Given the description of an element on the screen output the (x, y) to click on. 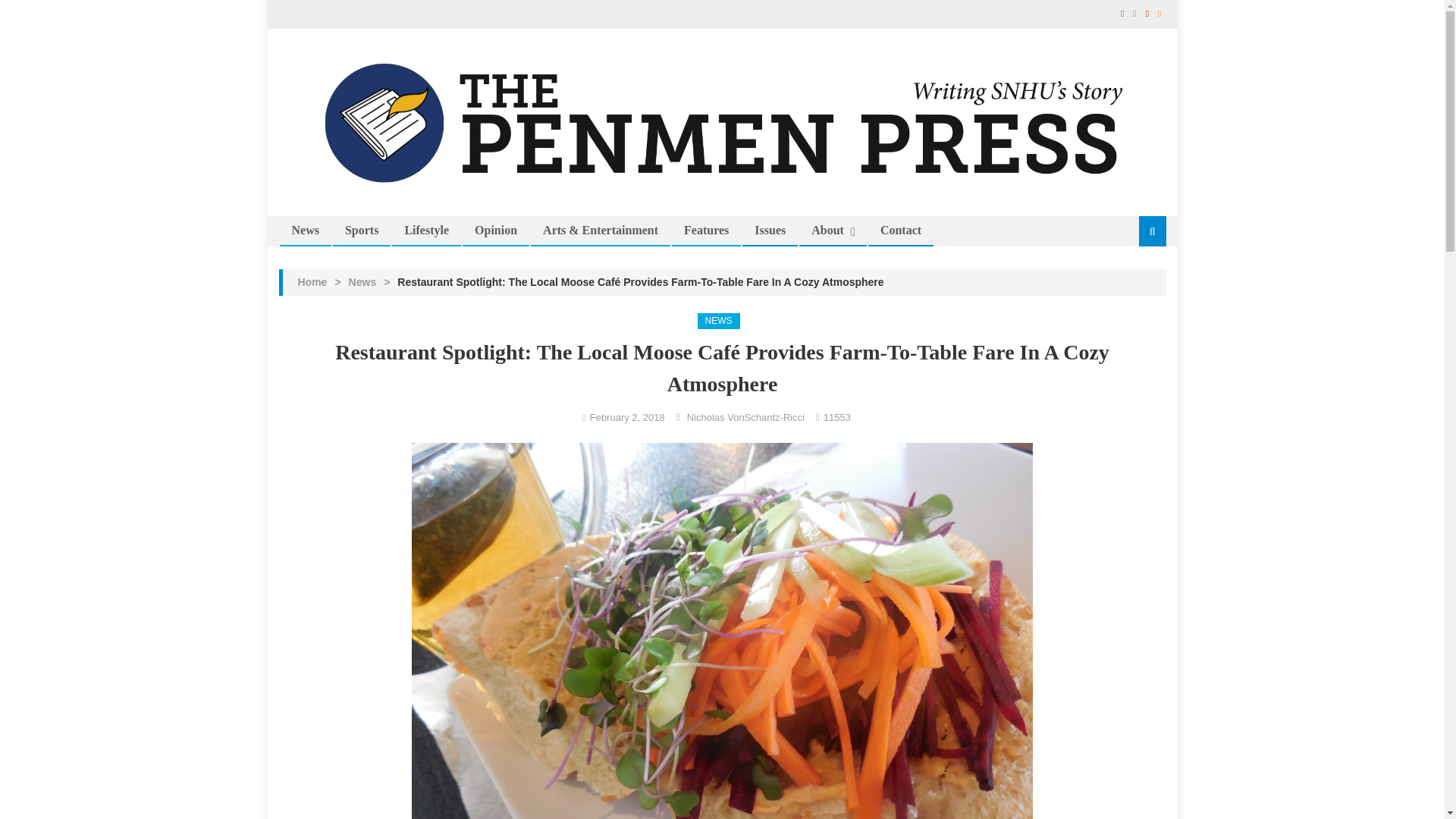
News (305, 230)
Posts by Nicholas VonSchantz-Ricci (746, 417)
Lifestyle (426, 230)
NEWS (718, 321)
About (827, 230)
Contact (901, 230)
Opinion (495, 230)
Nicholas VonSchantz-Ricci (746, 417)
Home (311, 281)
News (363, 281)
February 2, 2018 (627, 417)
Issues (769, 230)
Search (1133, 281)
Features (705, 230)
Sports (361, 230)
